Given the description of an element on the screen output the (x, y) to click on. 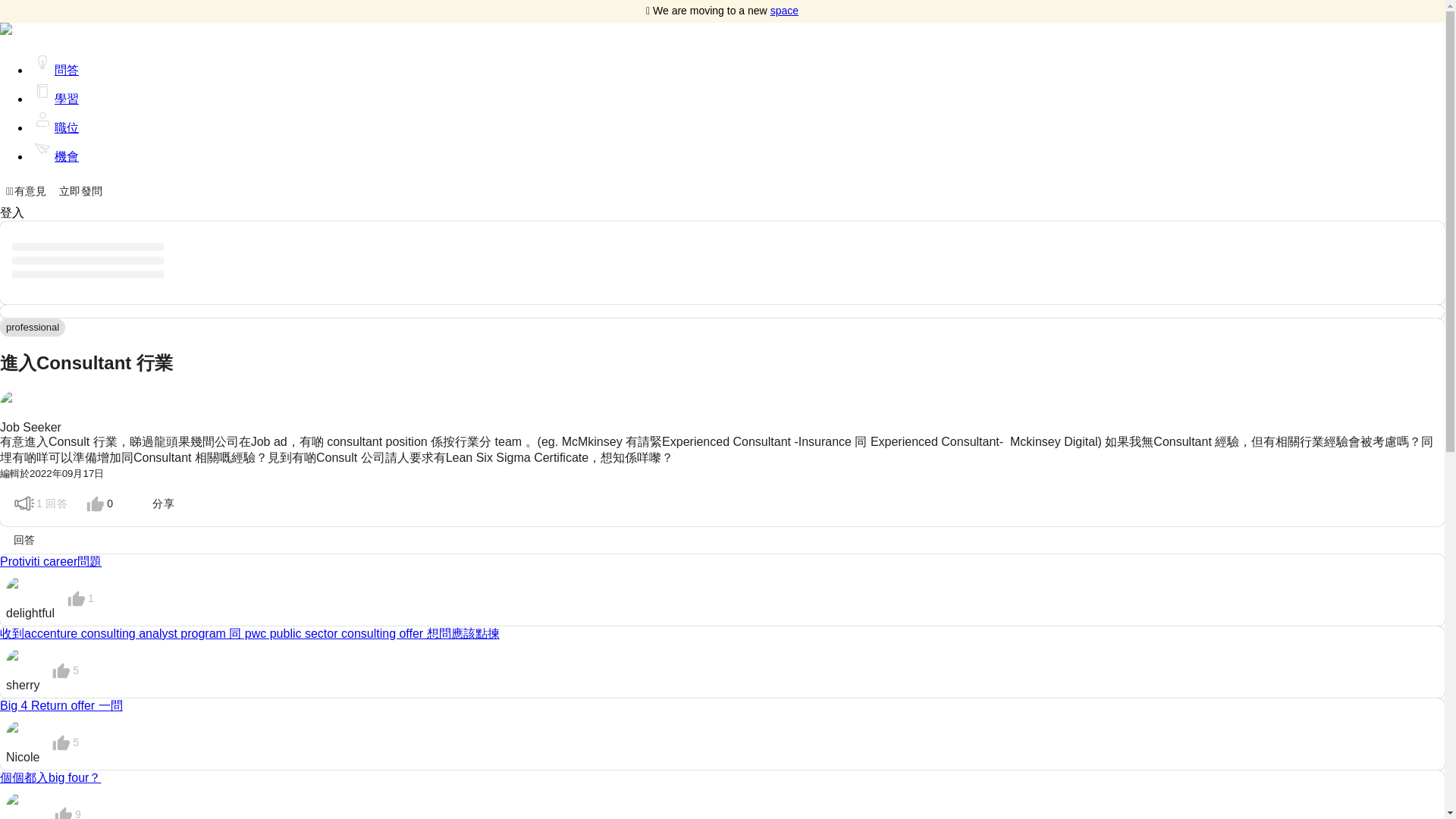
tabbar1-w (42, 61)
space (783, 10)
tabbar2-w (42, 90)
tabbar5-w (42, 119)
5 (63, 670)
5 (63, 742)
9 (66, 808)
0 (98, 503)
1 (79, 598)
tabbar4-w (42, 148)
